Given the description of an element on the screen output the (x, y) to click on. 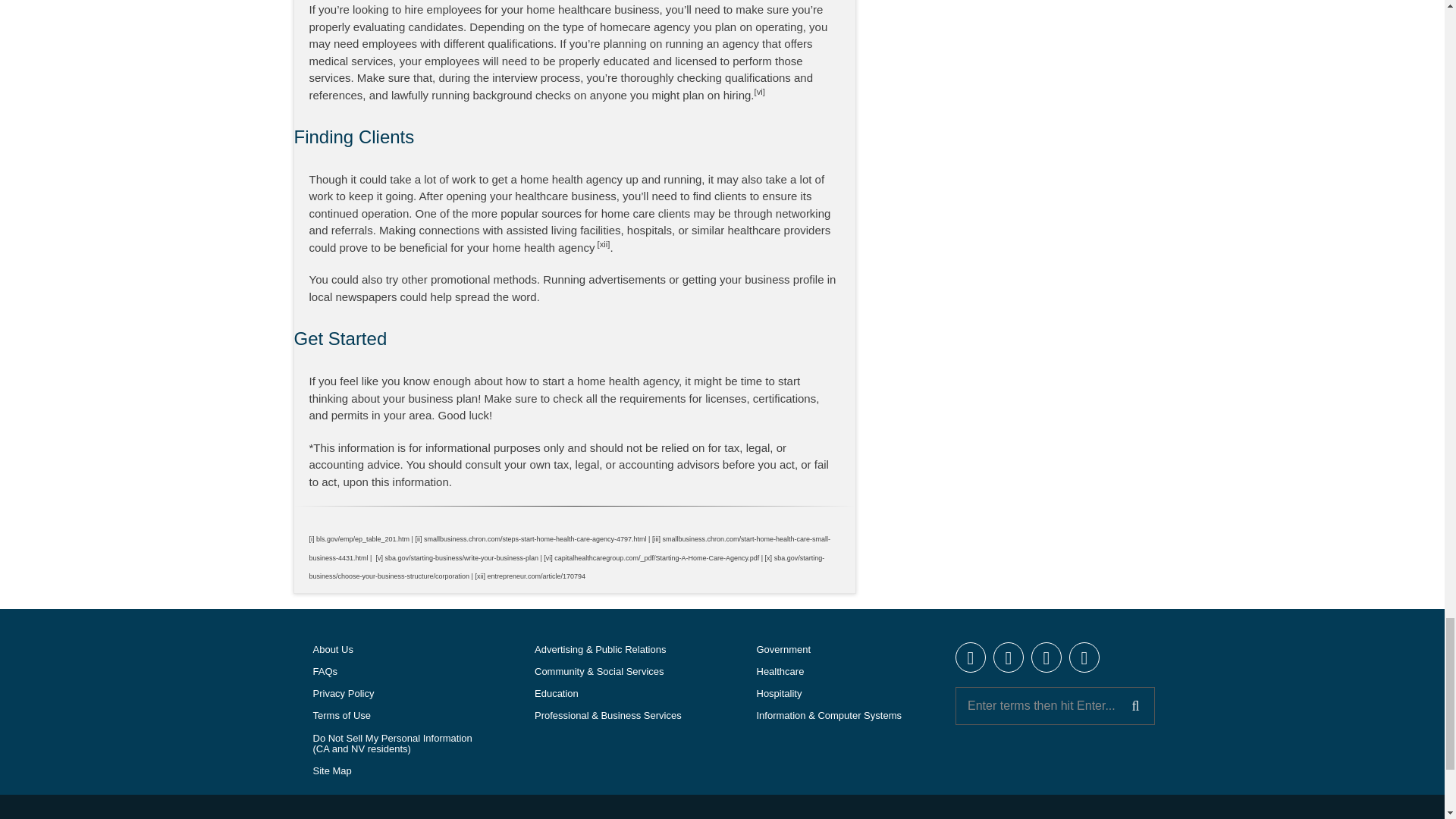
Enter terms then hit Enter... (1054, 705)
About Us (389, 649)
FAQs (389, 671)
Terms of Use (389, 716)
Privacy Policy (389, 694)
